Given the description of an element on the screen output the (x, y) to click on. 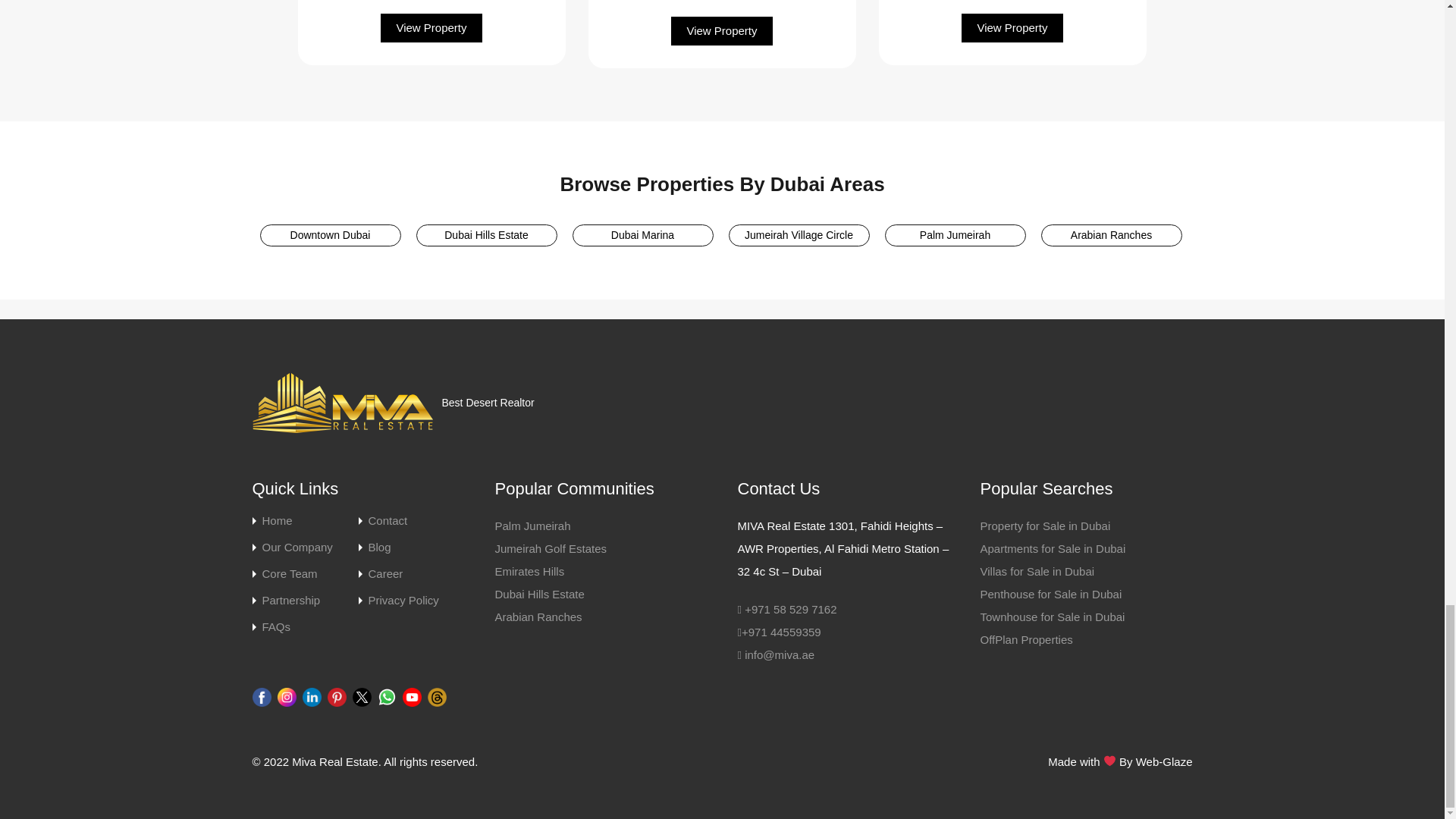
Miva Real Estate (342, 403)
